Given the description of an element on the screen output the (x, y) to click on. 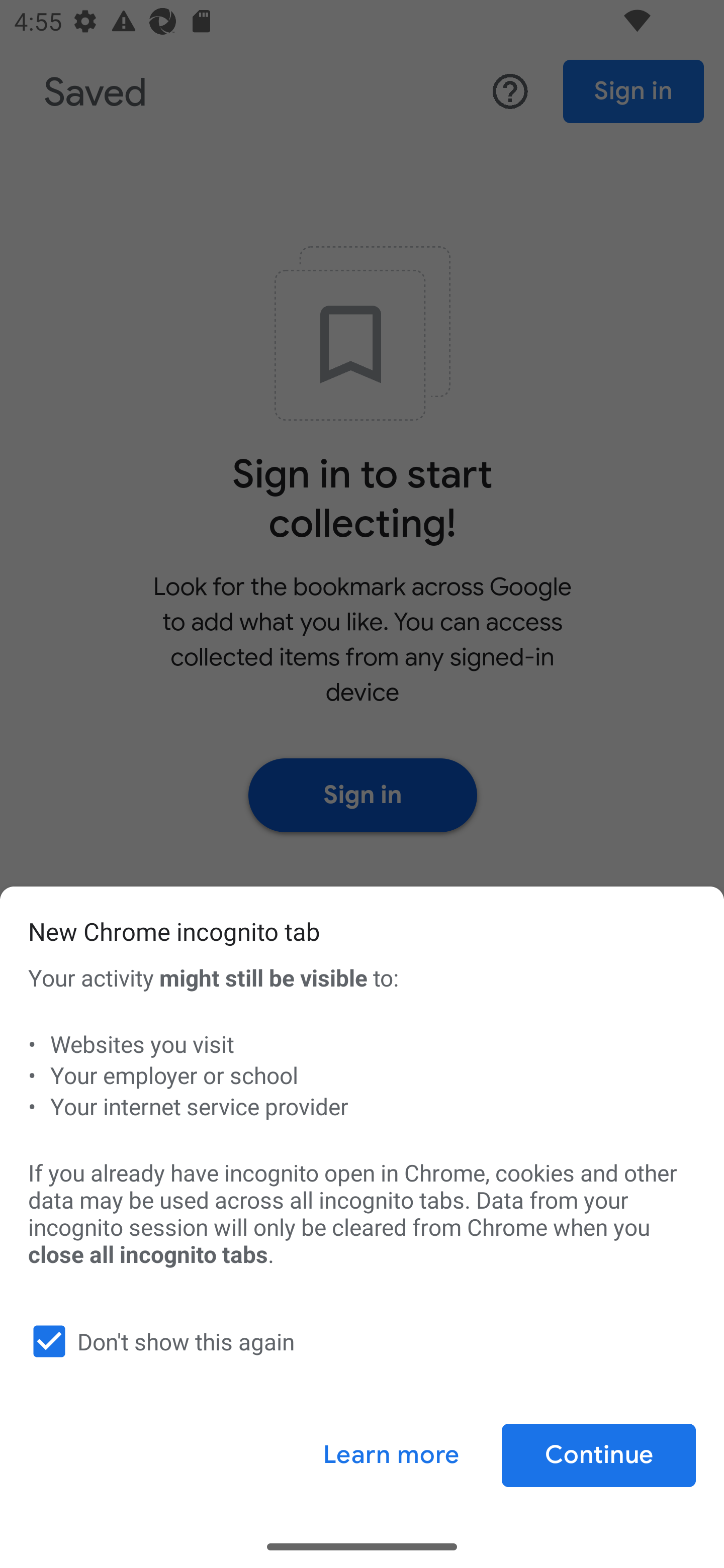
Don't show this again (357, 1341)
Learn more (390, 1454)
Continue (598, 1454)
